Given the description of an element on the screen output the (x, y) to click on. 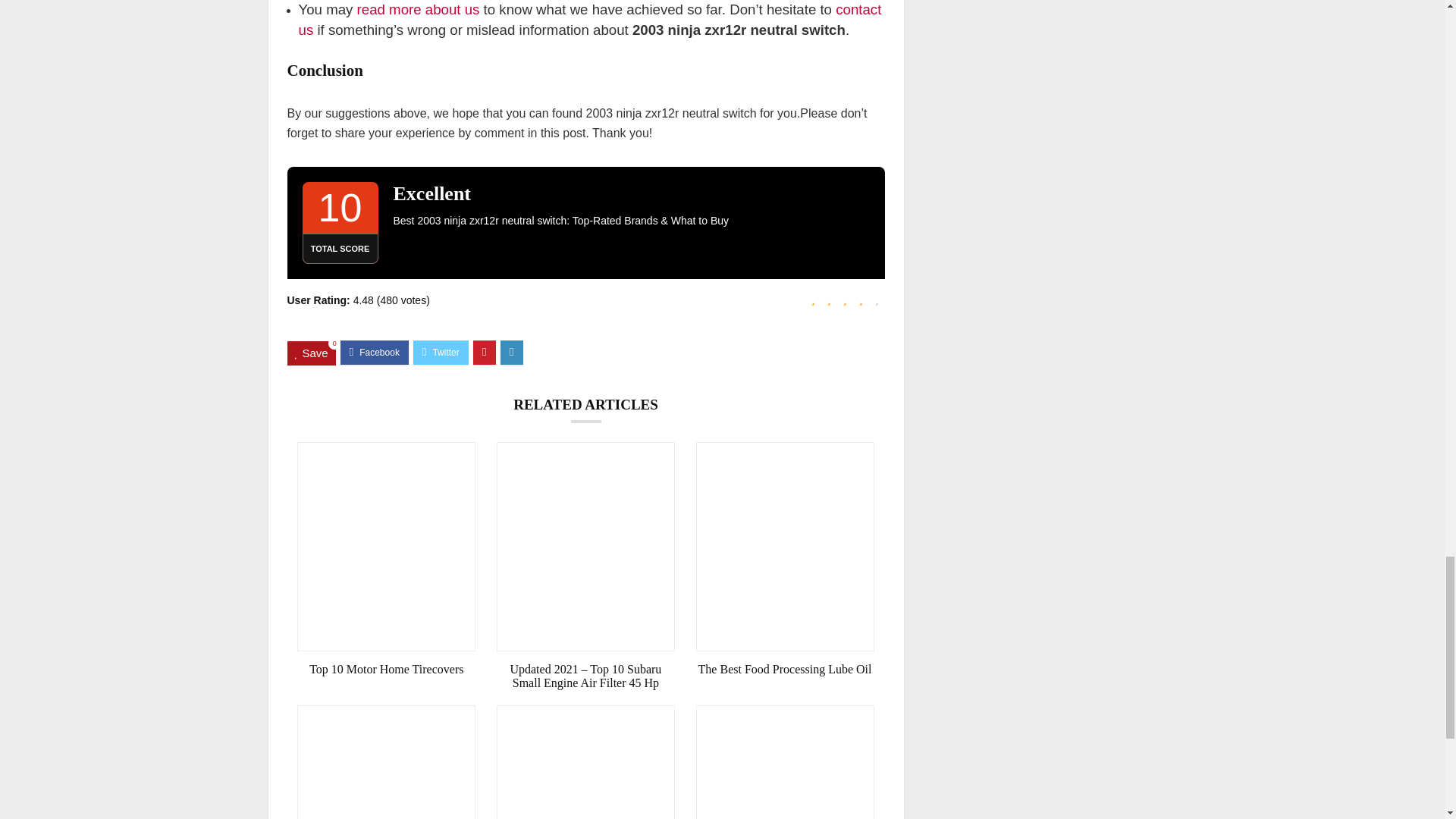
Top 10 Motor Home Tirecovers (386, 669)
The Best Food Processing Lube Oil (785, 669)
